Given the description of an element on the screen output the (x, y) to click on. 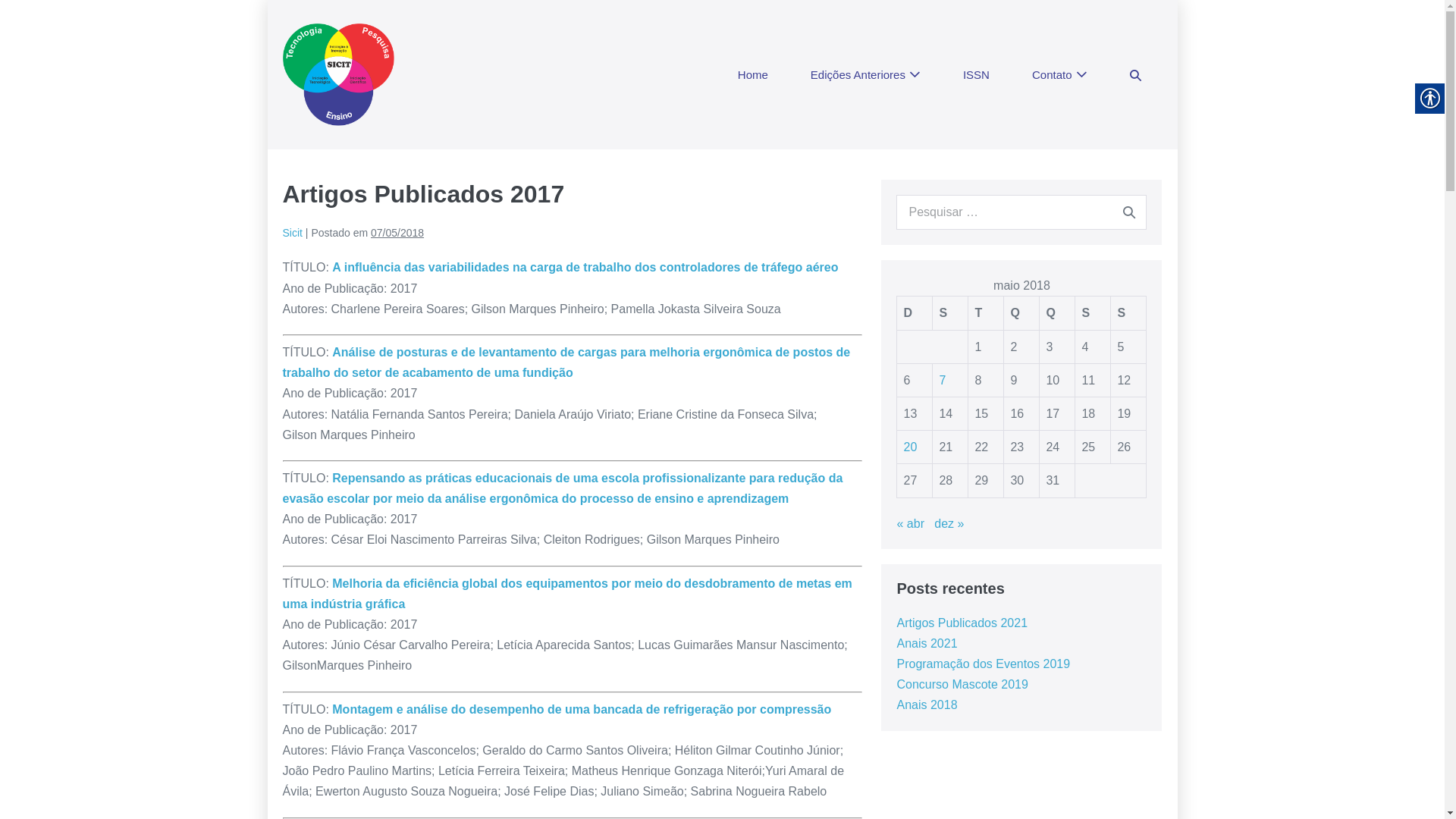
Sicit Element type: text (291, 232)
Home Element type: text (752, 74)
Alternar pesquisar Element type: text (1135, 74)
ISSN Element type: text (975, 74)
Concurso Mascote 2019 Element type: text (961, 683)
Artigos Publicados 2021 Element type: text (961, 622)
Contato Element type: text (1059, 74)
20 Element type: text (909, 446)
Anais 2021 Element type: text (926, 643)
Anais 2018 Element type: text (926, 704)
Pressione enter para pesquisar Element type: hover (1021, 211)
7 Element type: text (941, 379)
